Given the description of an element on the screen output the (x, y) to click on. 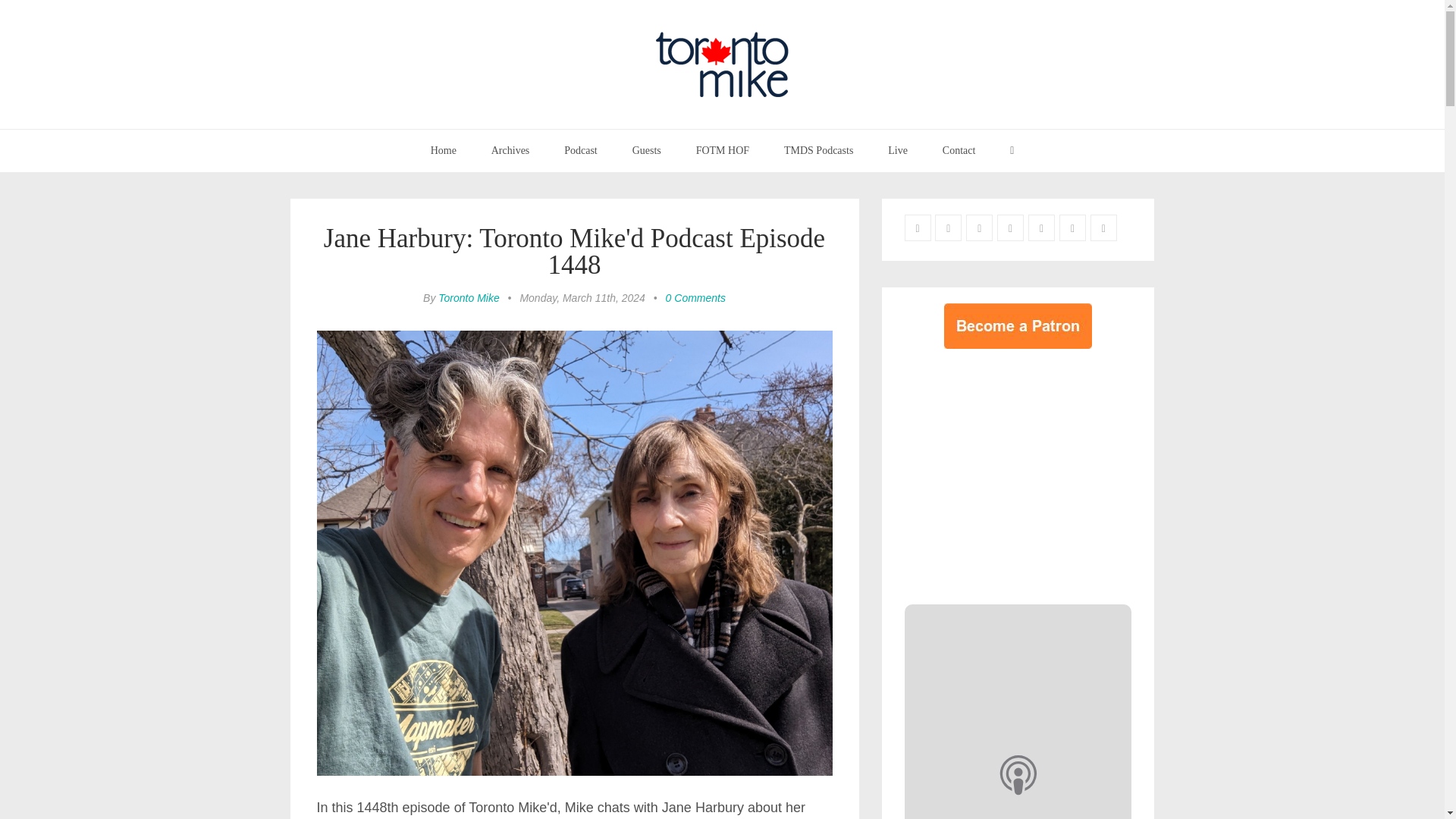
FOTM HOF (722, 150)
Contact (958, 150)
Home (442, 150)
Live (897, 150)
Advertisement (1031, 472)
Guests (646, 150)
0 Comments (695, 297)
Toronto Mike (468, 297)
Podcast (580, 150)
TMDS Podcasts (818, 150)
Archives (511, 150)
